Given the description of an element on the screen output the (x, y) to click on. 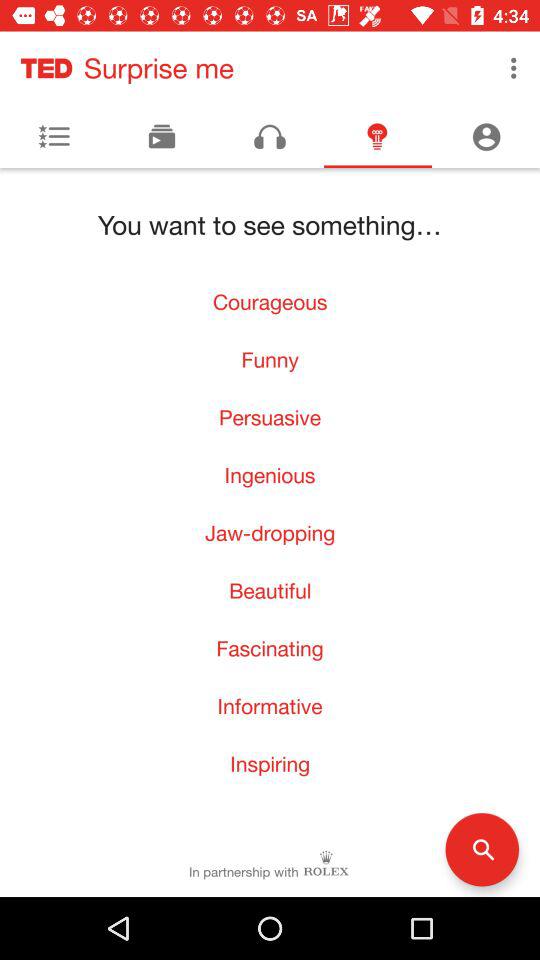
open item below courageous icon (270, 359)
